Given the description of an element on the screen output the (x, y) to click on. 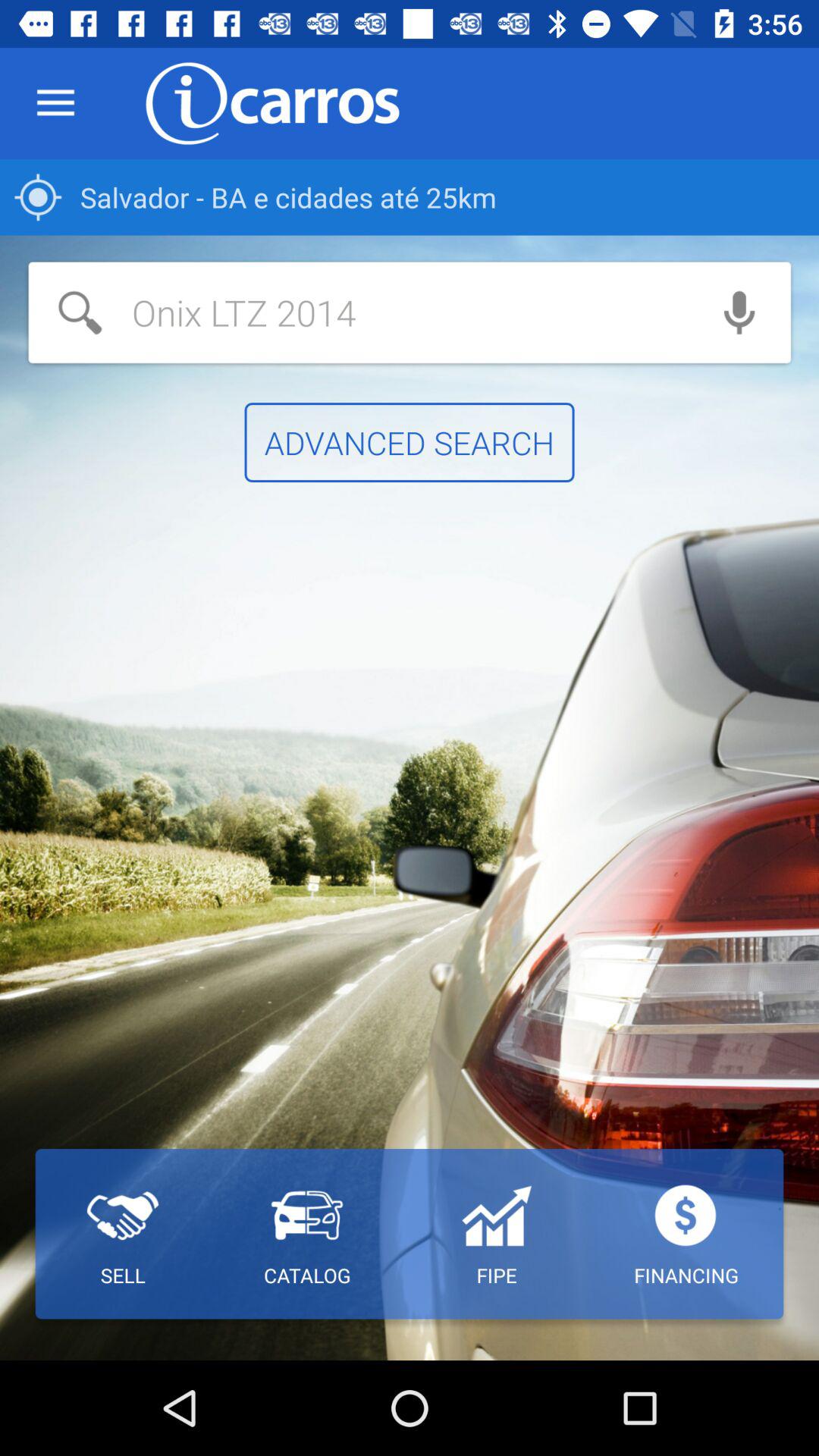
turn on icon below salvador ba e (739, 312)
